Given the description of an element on the screen output the (x, y) to click on. 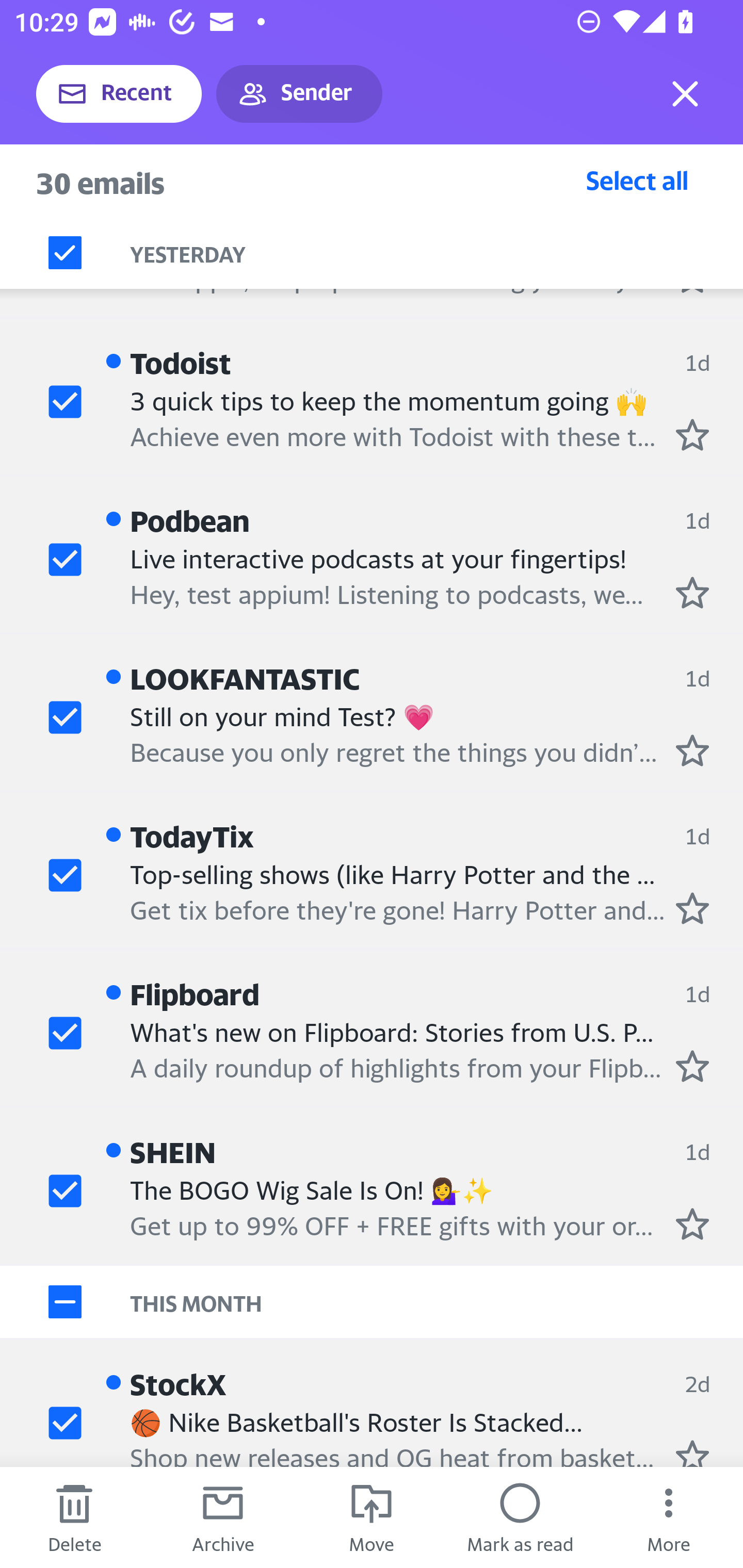
Sender (299, 93)
Exit selection mode (684, 93)
Select all (637, 180)
Mark as starred. (692, 435)
Mark as starred. (692, 591)
Mark as starred. (692, 750)
Mark as starred. (692, 908)
Mark as starred. (692, 1065)
Mark as starred. (692, 1223)
THIS MONTH (436, 1301)
Mark as starred. (692, 1452)
Delete (74, 1517)
Archive (222, 1517)
Move (371, 1517)
Mark as read (519, 1517)
More (668, 1517)
